Given the description of an element on the screen output the (x, y) to click on. 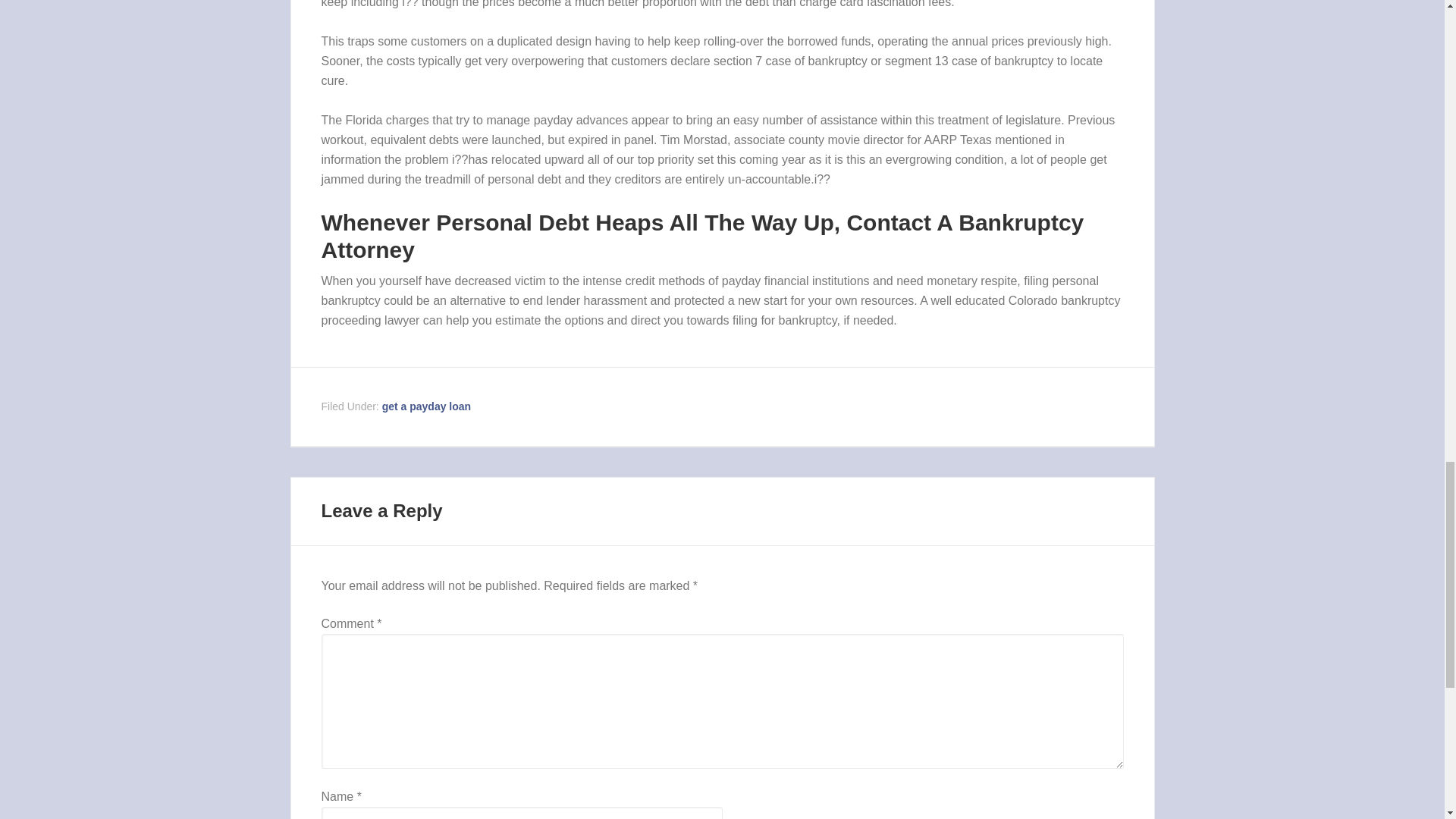
get a payday loan (425, 406)
